Given the description of an element on the screen output the (x, y) to click on. 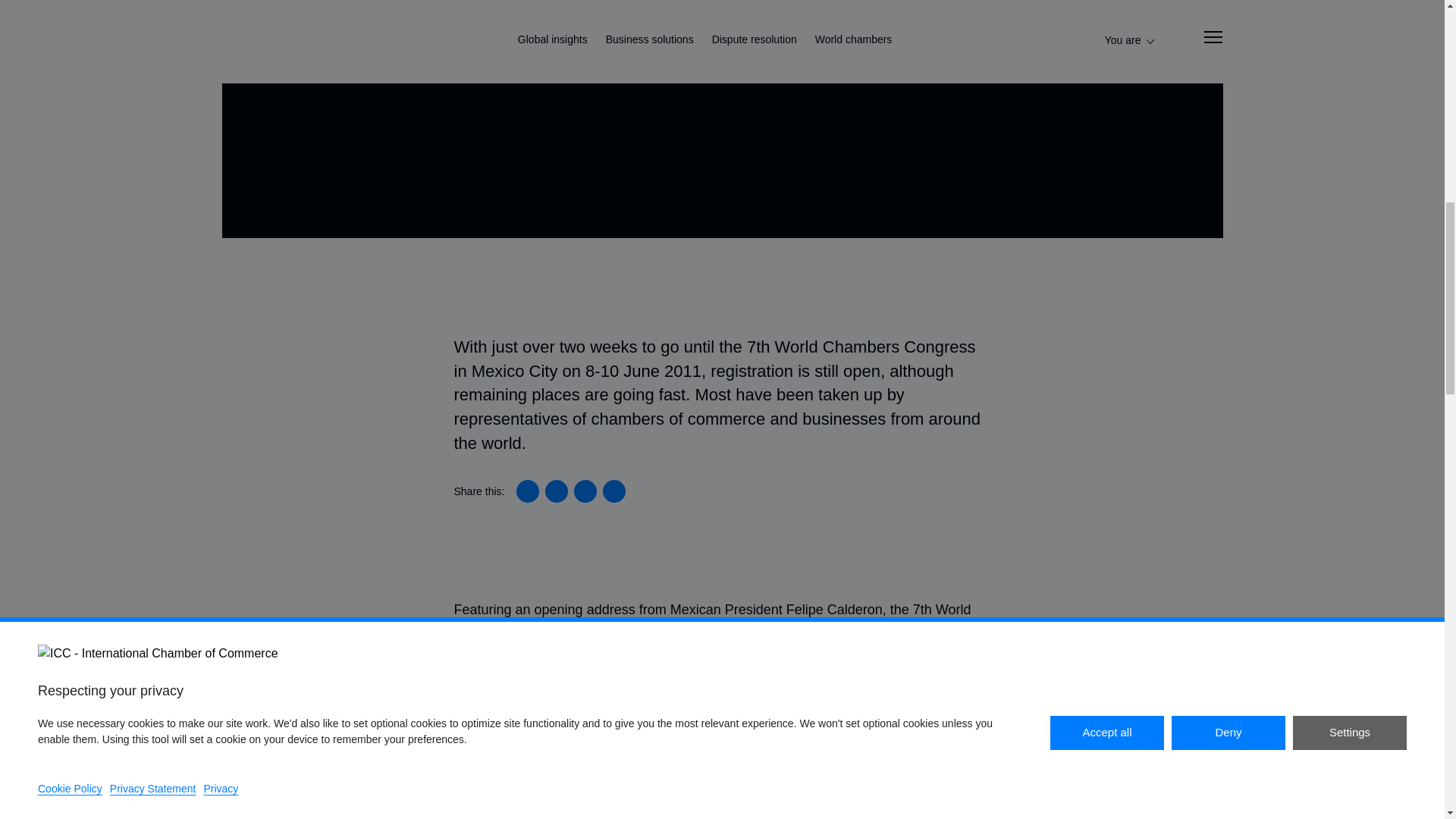
Share on Linkedin (527, 490)
Share this article with your email software (614, 490)
Share on X (555, 490)
Share on Facebook (584, 490)
